Given the description of an element on the screen output the (x, y) to click on. 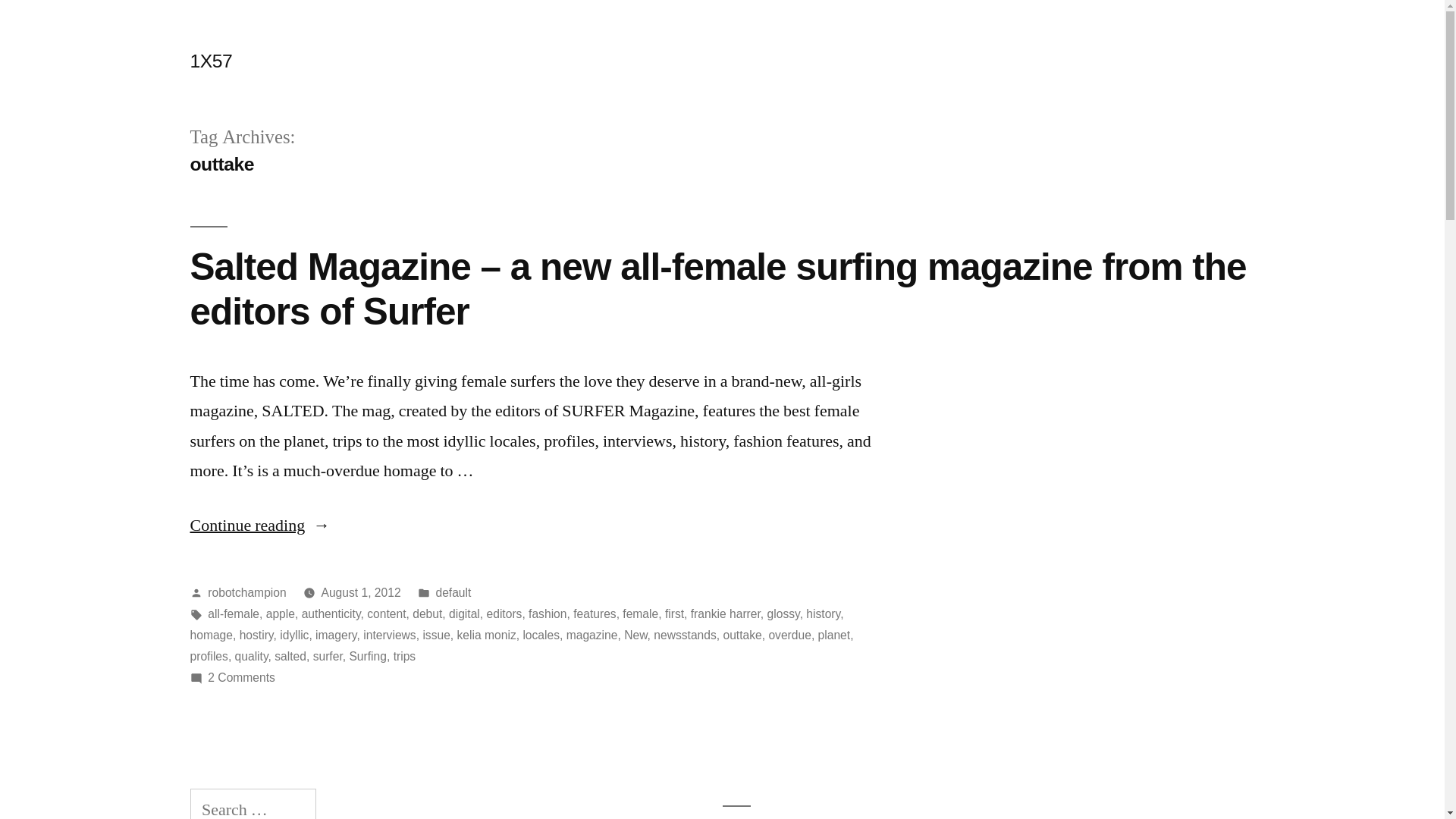
magazine Element type: text (592, 634)
default Element type: text (452, 592)
debut Element type: text (427, 613)
issue Element type: text (435, 634)
interviews Element type: text (389, 634)
1X57 Element type: text (210, 60)
homage Element type: text (210, 634)
editors Element type: text (504, 613)
salted Element type: text (290, 655)
authenticity Element type: text (330, 613)
trips Element type: text (404, 655)
profiles Element type: text (208, 655)
imagery Element type: text (335, 634)
Surfing Element type: text (367, 655)
features Element type: text (594, 613)
all-female Element type: text (233, 613)
history Element type: text (823, 613)
digital Element type: text (464, 613)
apple Element type: text (280, 613)
idyllic Element type: text (293, 634)
female Element type: text (640, 613)
New Element type: text (635, 634)
quality Element type: text (251, 655)
overdue Element type: text (789, 634)
August 1, 2012 Element type: text (361, 592)
locales Element type: text (540, 634)
fashion Element type: text (547, 613)
content Element type: text (386, 613)
hostiry Element type: text (256, 634)
surfer Element type: text (327, 655)
robotchampion Element type: text (246, 592)
frankie harrer Element type: text (725, 613)
glossy Element type: text (783, 613)
outtake Element type: text (741, 634)
newsstands Element type: text (684, 634)
first Element type: text (674, 613)
planet Element type: text (834, 634)
kelia moniz Element type: text (486, 634)
